Given the description of an element on the screen output the (x, y) to click on. 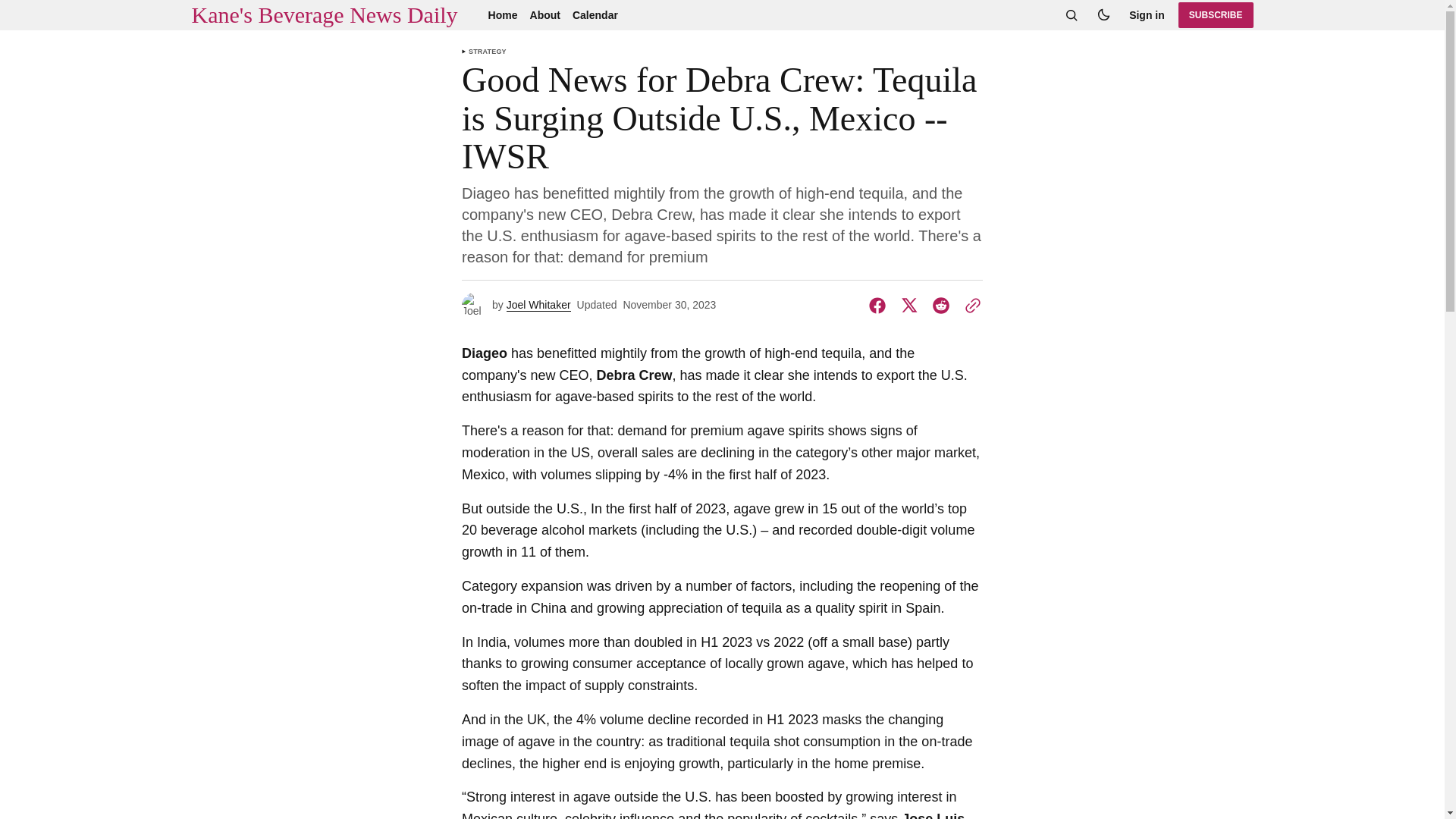
Joel Whitaker (538, 305)
Home (502, 15)
SUBSCRIBE (1215, 14)
Search button (1071, 15)
Sign in (1146, 14)
Kane's Beverage News Daily (323, 15)
About (545, 15)
STRATEGY (487, 51)
Calendar (595, 15)
